Given the description of an element on the screen output the (x, y) to click on. 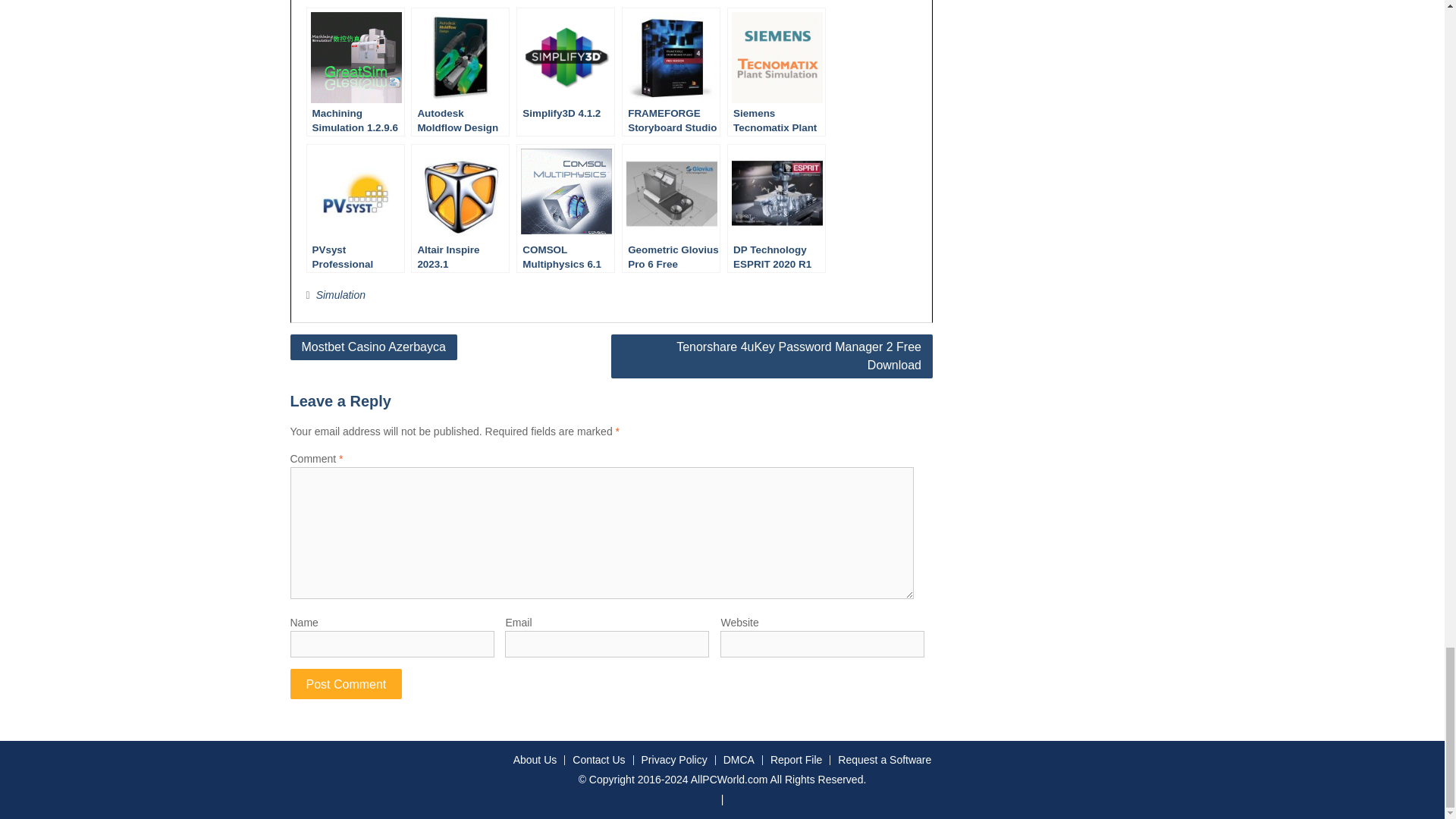
Simulation (340, 295)
About Us (534, 759)
Contact Us (597, 759)
Post Comment (345, 684)
Request a Software (884, 759)
Tenorshare 4uKey Password Manager 2 Free Download (772, 356)
Report File (795, 759)
DMCA (737, 759)
Mostbet Casino Azerbayca (373, 347)
Post Comment (345, 684)
